Given the description of an element on the screen output the (x, y) to click on. 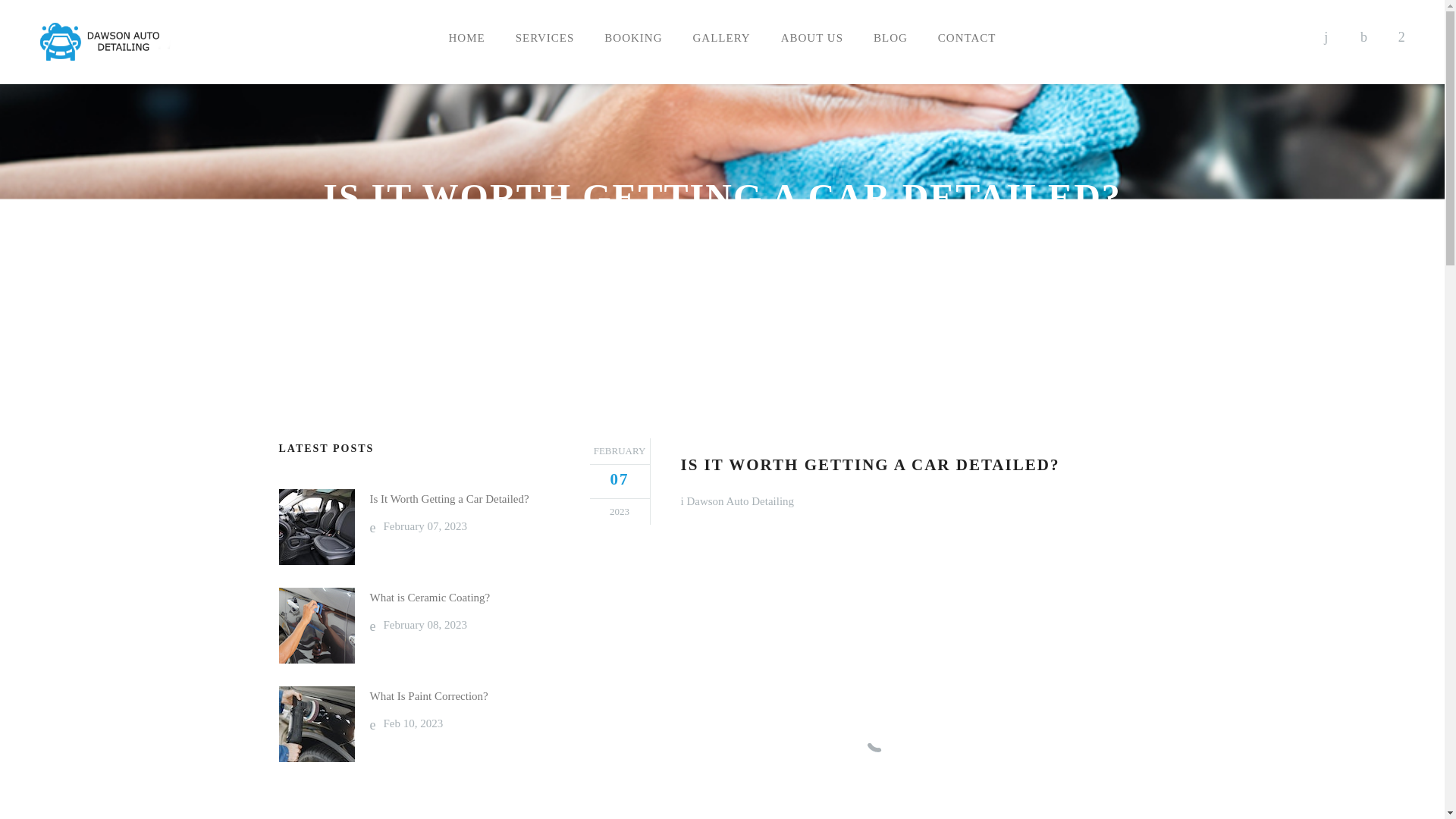
Dawson Auto Detailing (739, 500)
CONTACT (967, 38)
IS IT WORTH GETTING A CAR DETAILED? (777, 244)
ABOUT US (411, 625)
HOME (812, 38)
BOOKING (568, 244)
GALLERY (633, 38)
IS IT WORTH GETTING A CAR DETAILED? (721, 38)
